Given the description of an element on the screen output the (x, y) to click on. 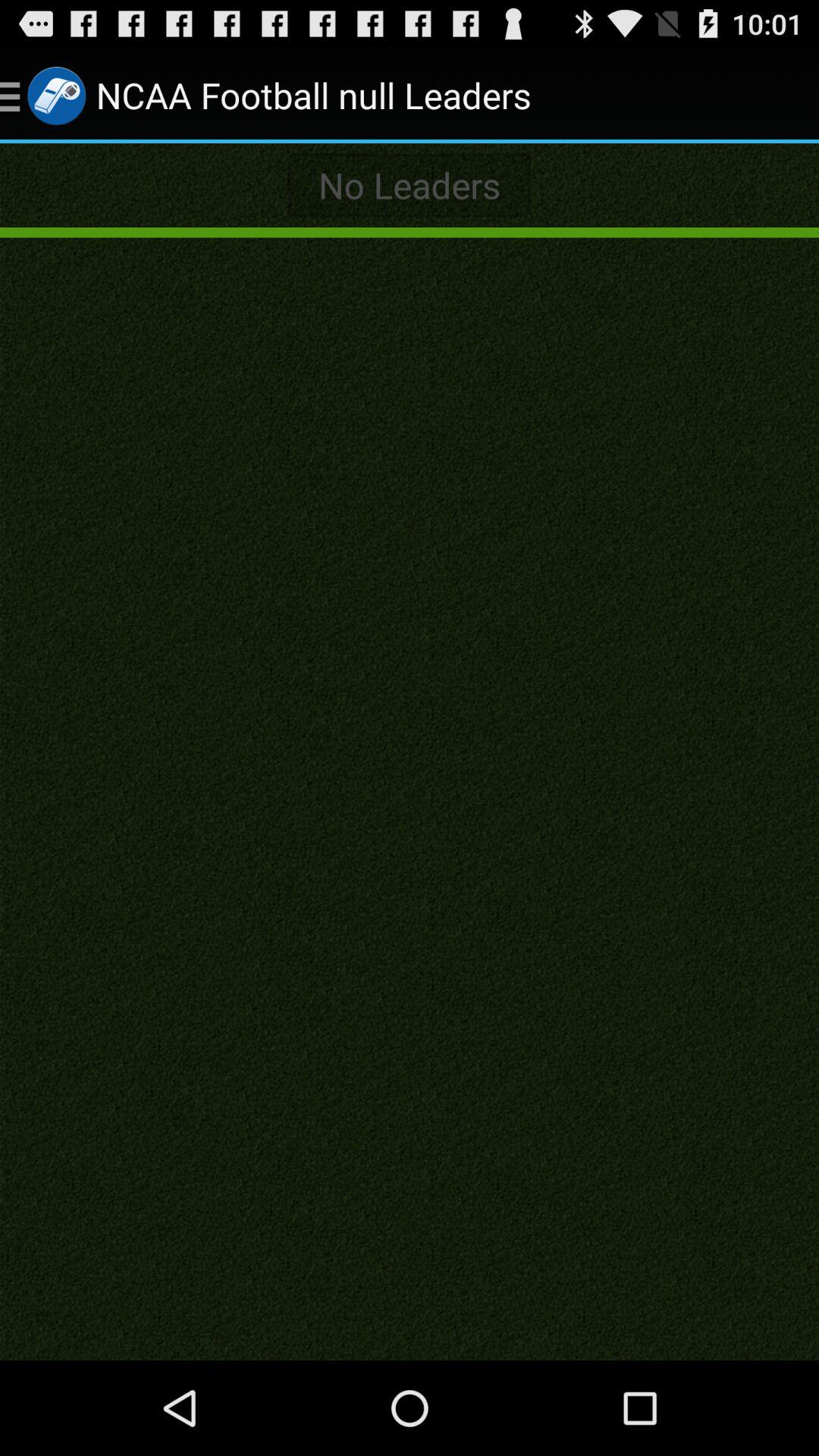
turn off no leaders icon (409, 185)
